Given the description of an element on the screen output the (x, y) to click on. 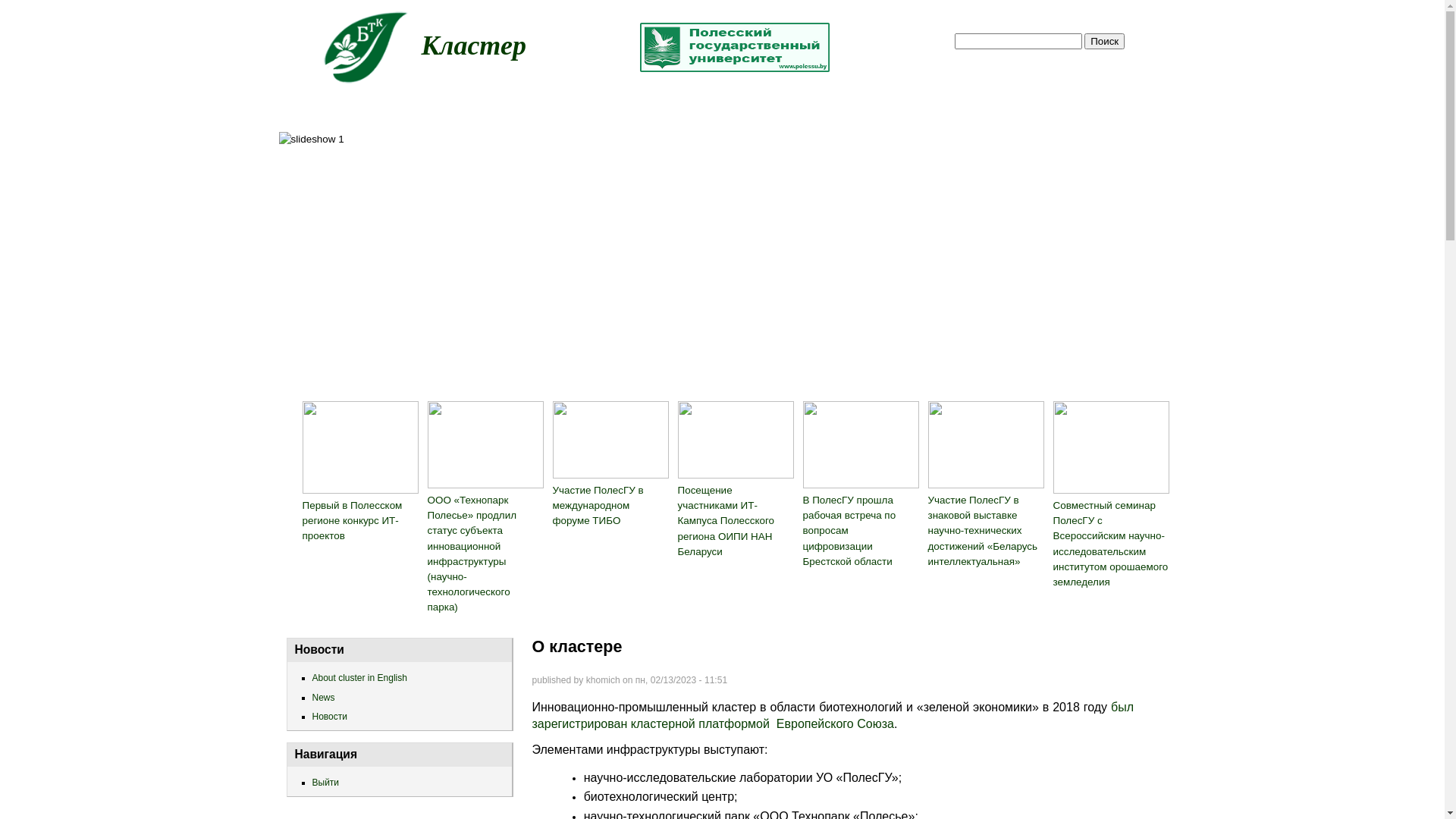
News Element type: text (403, 697)
About cluster in English Element type: text (403, 677)
